Given the description of an element on the screen output the (x, y) to click on. 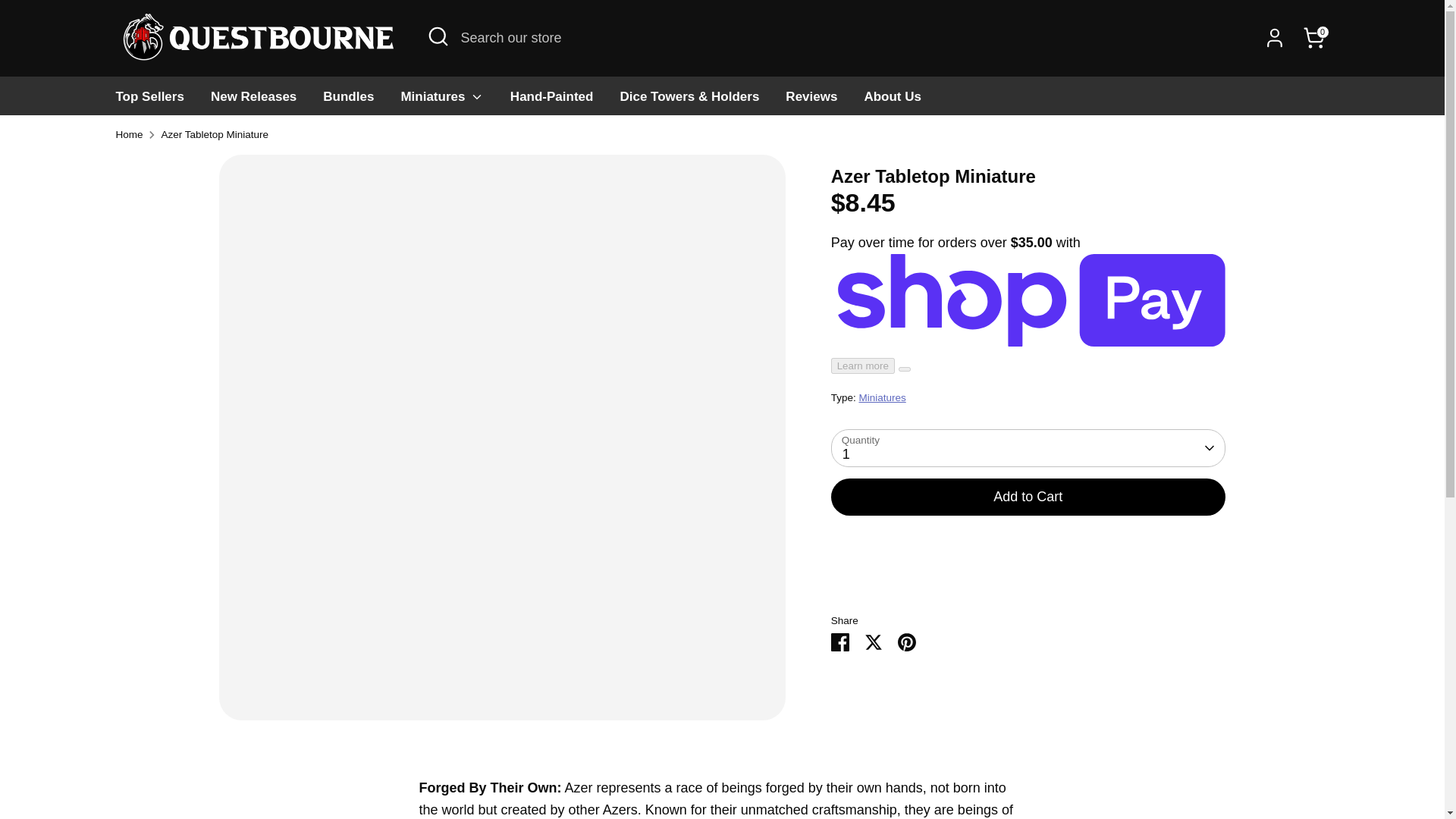
Discover (1100, 767)
American Express (1008, 767)
PayPal (1221, 767)
Meta Pay (1130, 767)
Bundles (348, 100)
Hand-Painted (552, 100)
Google Pay (1160, 767)
Reviews (811, 100)
0 (1312, 37)
New Releases (253, 100)
Apple Pay (1039, 767)
Miniatures (441, 100)
About Us (892, 100)
Top Sellers (149, 100)
Diners Club (1069, 767)
